Given the description of an element on the screen output the (x, y) to click on. 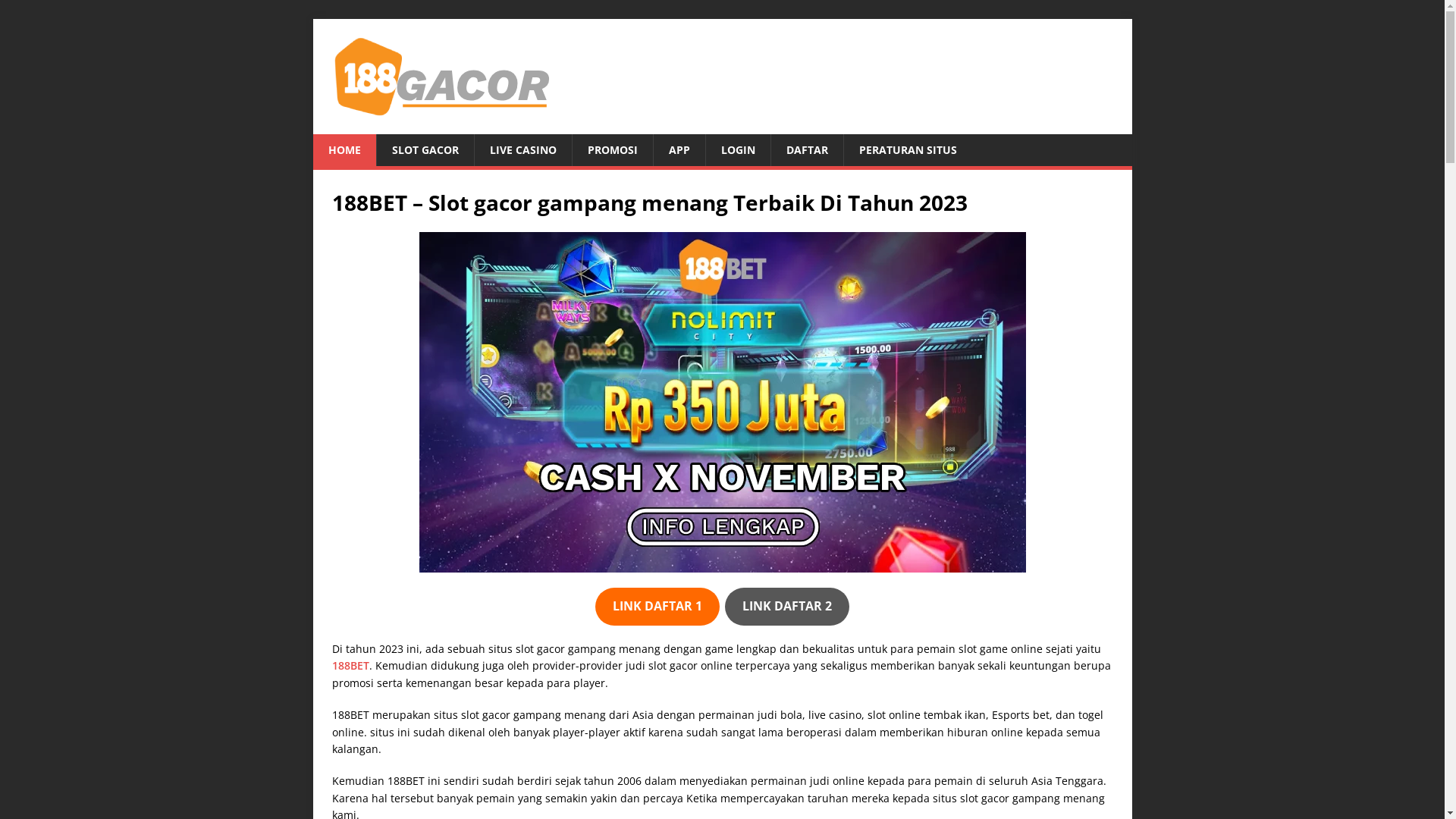
LIVE CASINO Element type: text (522, 150)
LINK DAFTAR 1 Element type: text (657, 606)
188BET Element type: text (350, 665)
SLOT GACOR Element type: text (424, 150)
LOGIN Element type: text (737, 150)
HOME Element type: text (343, 150)
APP Element type: text (678, 150)
DAFTAR Element type: text (806, 150)
PERATURAN SITUS Element type: text (907, 150)
PROMOSI Element type: text (611, 150)
LINK DAFTAR 2 Element type: text (786, 606)
